Given the description of an element on the screen output the (x, y) to click on. 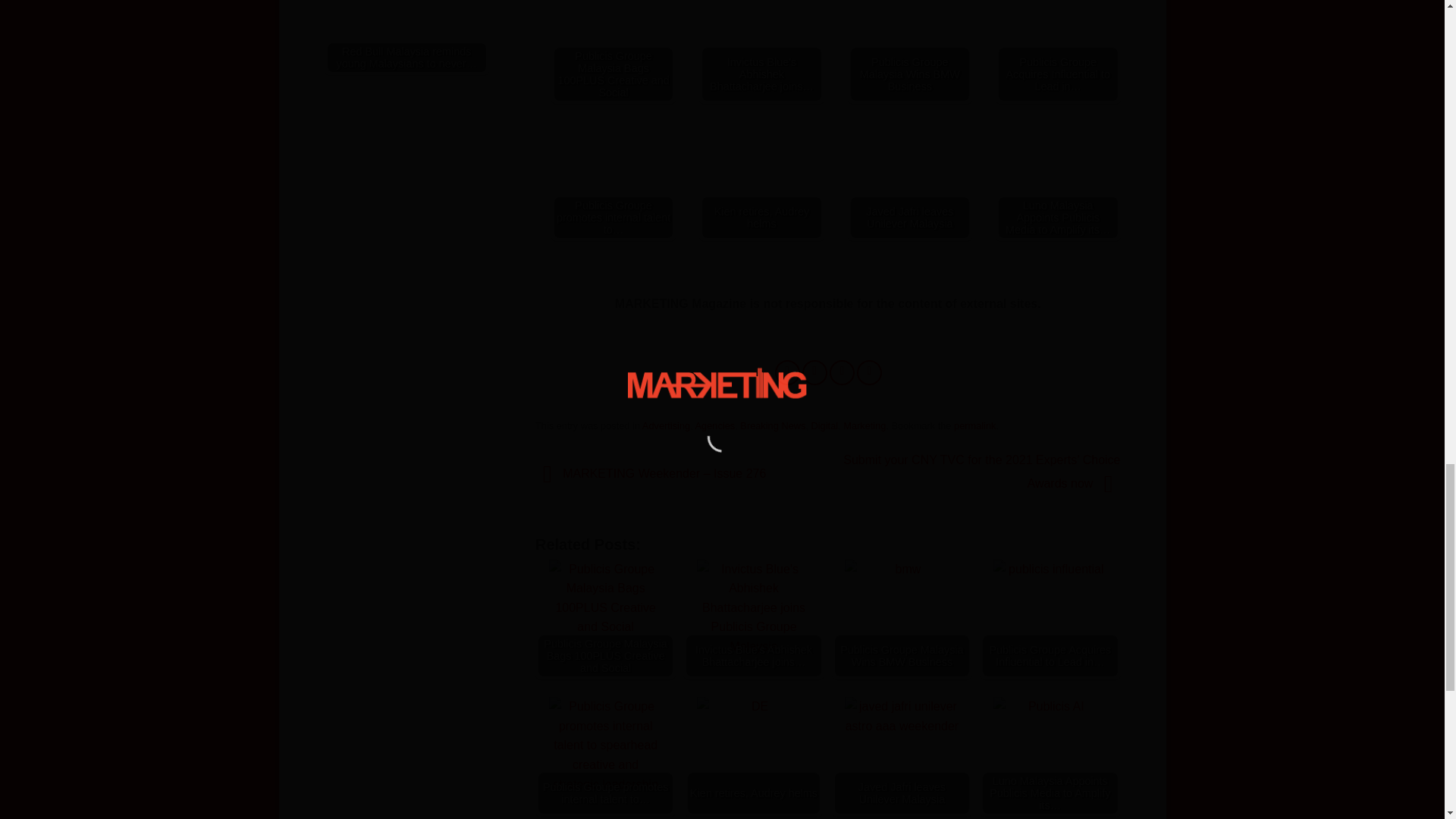
Publicis Groupe Malaysia Bags 100PLUS Creative and Social (612, 42)
